Given the description of an element on the screen output the (x, y) to click on. 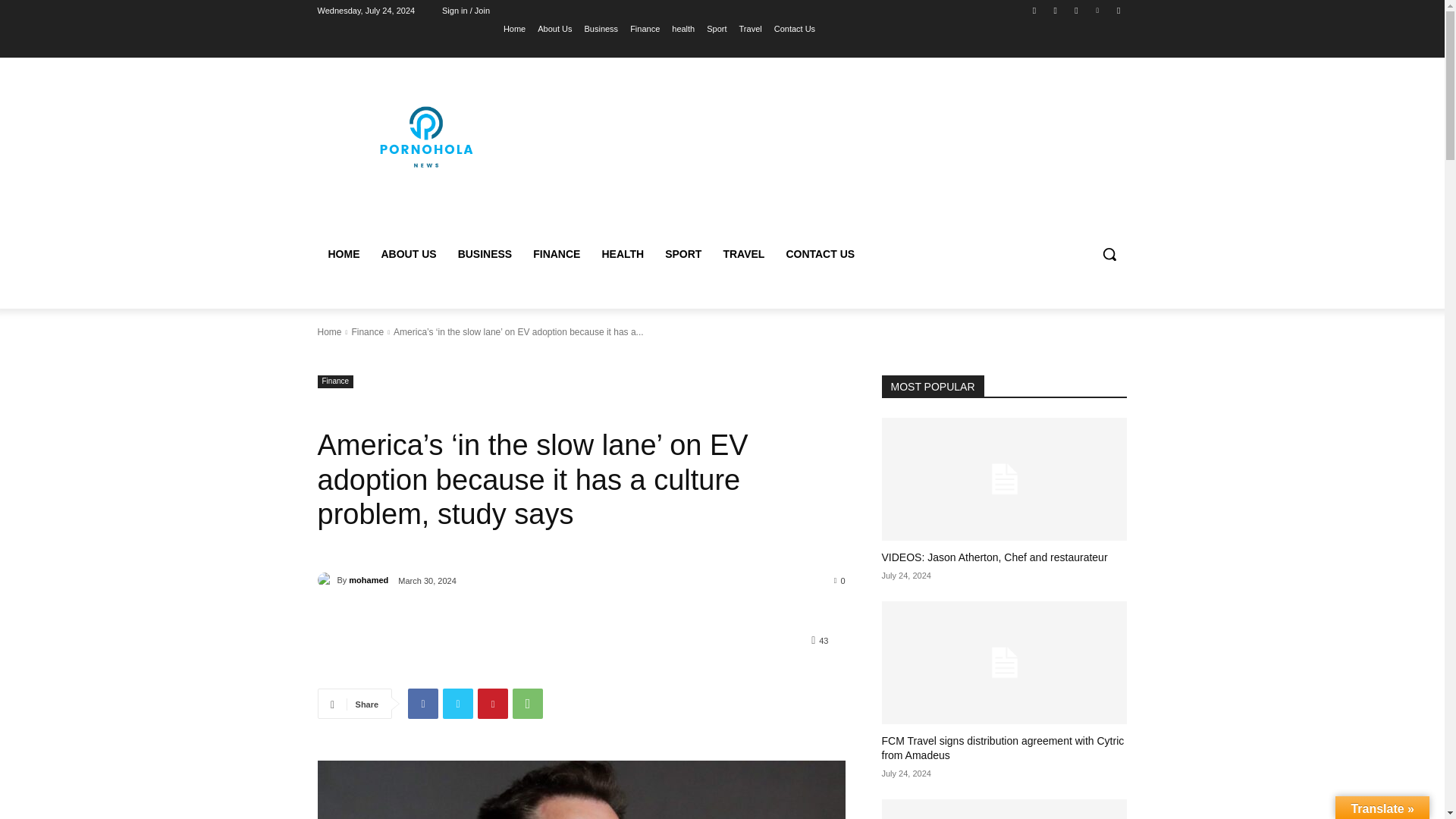
CONTACT US (819, 253)
Twitter (457, 703)
Vimeo (1097, 9)
Twitter (1075, 9)
FINANCE (556, 253)
Home (328, 331)
Instagram (1055, 9)
Sport (716, 28)
HEALTH (622, 253)
View all posts in Finance (367, 331)
mohamed (326, 580)
Contact Us (794, 28)
TRAVEL (742, 253)
About Us (554, 28)
Finance (644, 28)
